Given the description of an element on the screen output the (x, y) to click on. 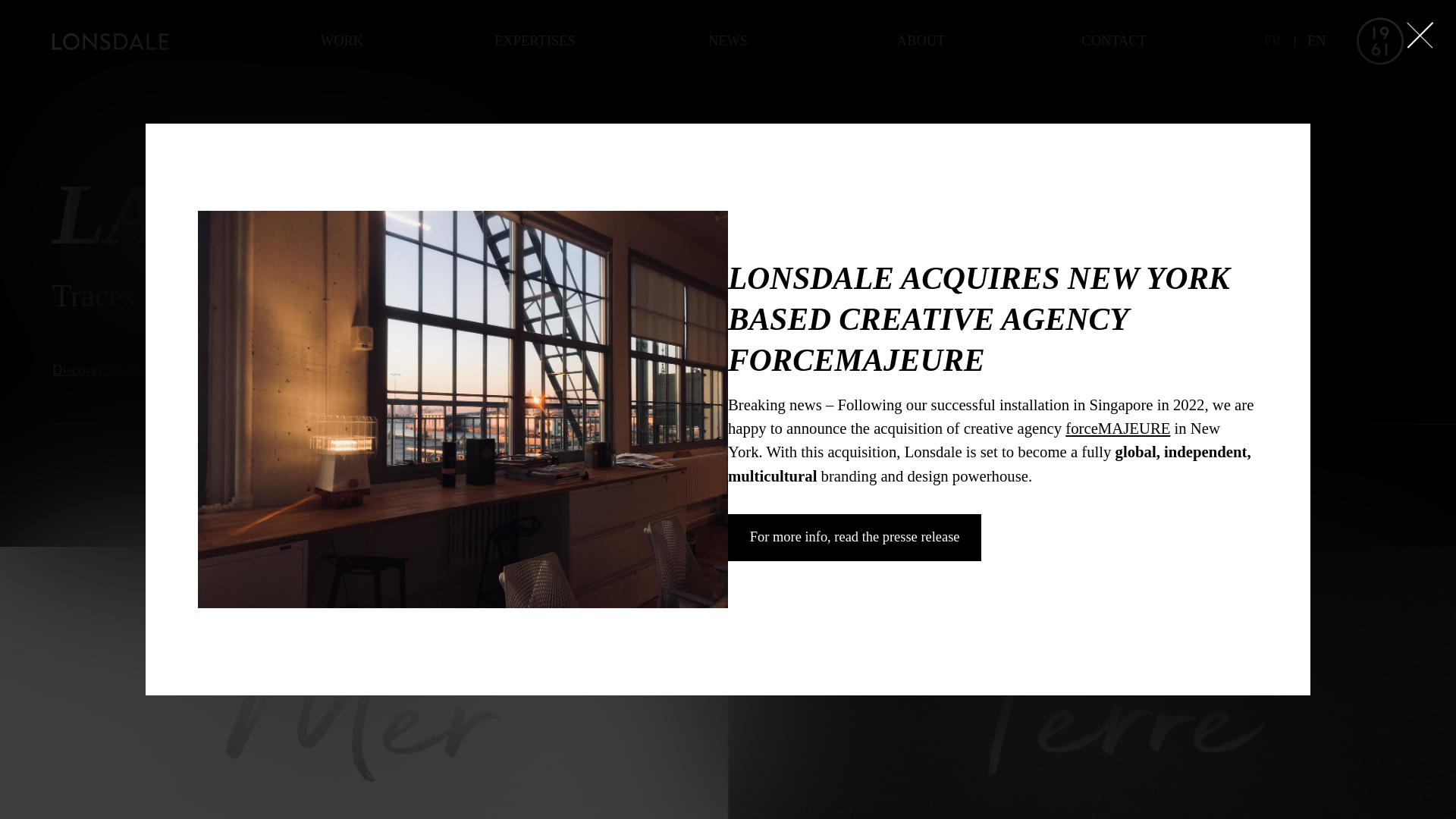
NEWS (728, 41)
EXPERTISES (534, 41)
WORK (342, 41)
FR (1272, 41)
CONTACT (1114, 41)
ABOUT (920, 41)
EN (1316, 41)
